Given the description of an element on the screen output the (x, y) to click on. 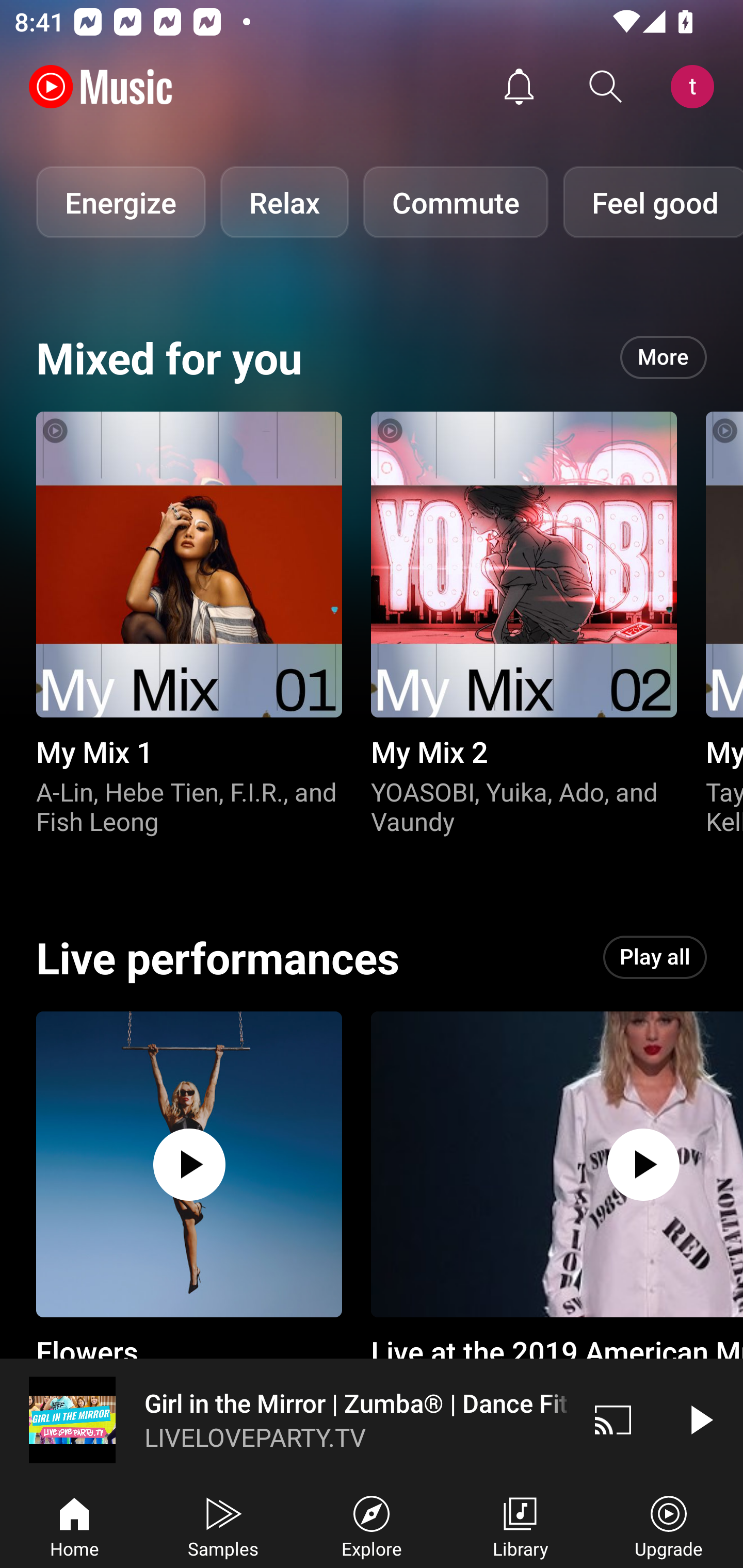
Activity feed (518, 86)
Search (605, 86)
Account (696, 86)
Cast. Disconnected (612, 1419)
Play video (699, 1419)
Home (74, 1524)
Samples (222, 1524)
Explore (371, 1524)
Library (519, 1524)
Upgrade (668, 1524)
